Given the description of an element on the screen output the (x, y) to click on. 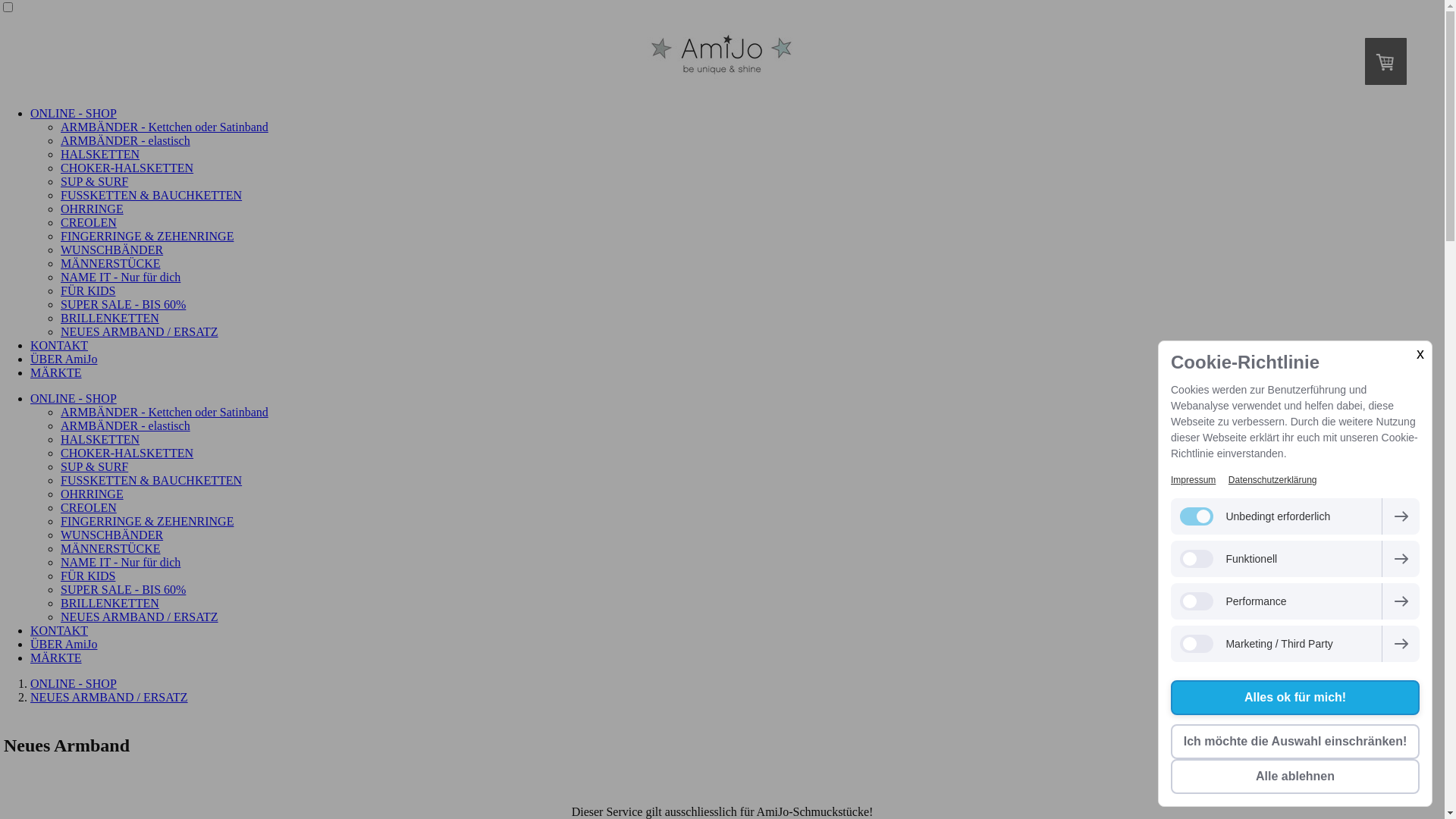
BRILLENKETTEN Element type: text (109, 602)
SUPER SALE - BIS 60% Element type: text (122, 304)
SUP & SURF Element type: text (94, 466)
ONLINE - SHOP Element type: text (73, 398)
NEUES ARMBAND / ERSATZ Element type: text (139, 331)
CREOLEN Element type: text (88, 507)
CHOKER-HALSKETTEN Element type: text (126, 167)
SUP & SURF Element type: text (94, 181)
FUSSKETTEN & BAUCHKETTEN Element type: text (150, 194)
CREOLEN Element type: text (88, 222)
HALSKETTEN Element type: text (99, 439)
KONTAKT Element type: text (58, 344)
FUSSKETTEN & BAUCHKETTEN Element type: text (150, 479)
FINGERRINGE & ZEHENRINGE Element type: text (146, 520)
SUPER SALE - BIS 60% Element type: text (122, 589)
FINGERRINGE & ZEHENRINGE Element type: text (146, 235)
ONLINE - SHOP Element type: text (73, 112)
NEUES ARMBAND / ERSATZ Element type: text (139, 616)
Alle ablehnen Element type: text (1294, 776)
OHRRINGE Element type: text (91, 208)
BRILLENKETTEN Element type: text (109, 317)
KONTAKT Element type: text (58, 630)
Impressum Element type: text (1192, 479)
HALSKETTEN Element type: text (99, 153)
ONLINE - SHOP Element type: text (73, 683)
NEUES ARMBAND / ERSATZ Element type: text (109, 696)
OHRRINGE Element type: text (91, 493)
CHOKER-HALSKETTEN Element type: text (126, 452)
